Given the description of an element on the screen output the (x, y) to click on. 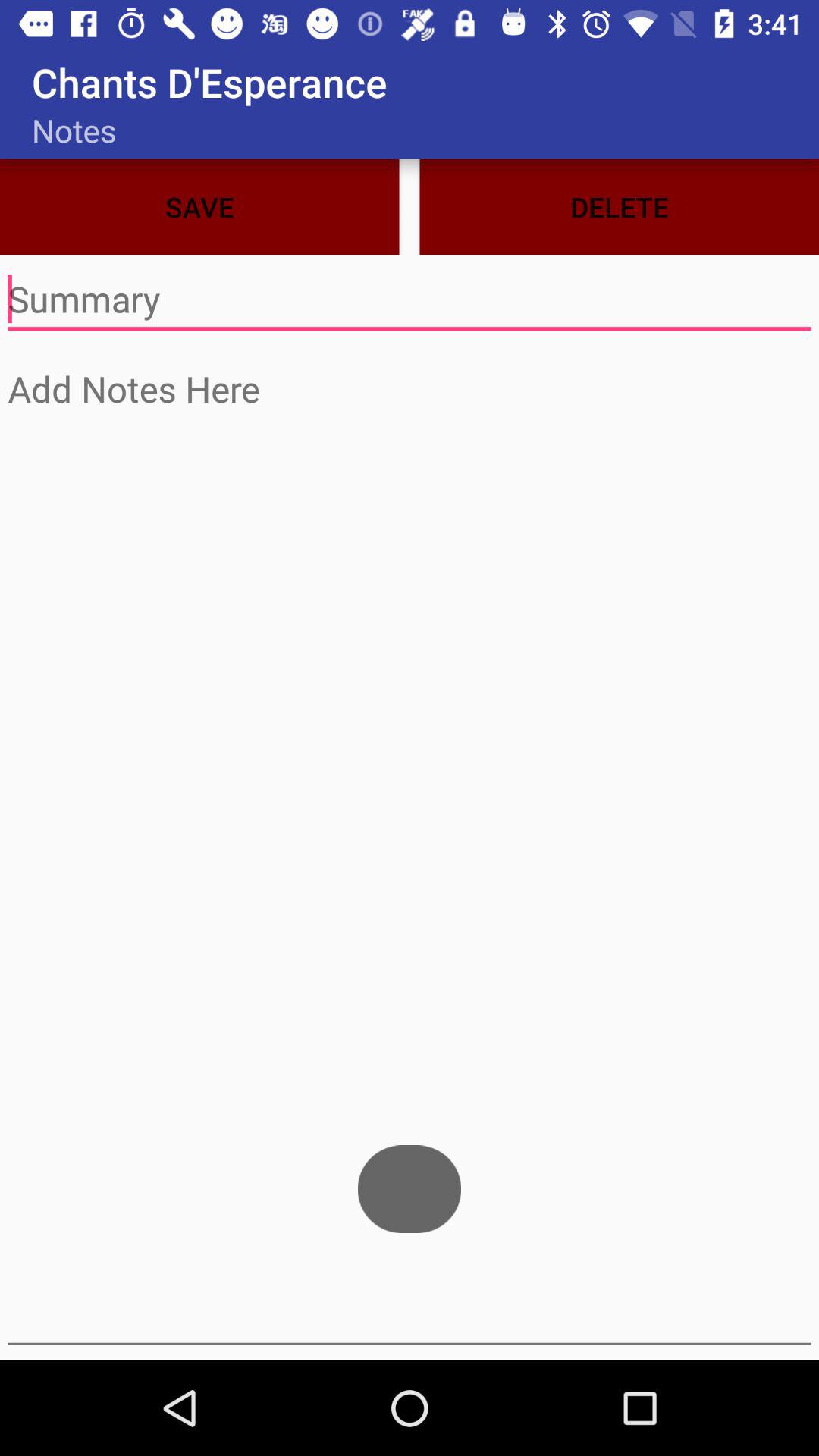
typing page (409, 852)
